Given the description of an element on the screen output the (x, y) to click on. 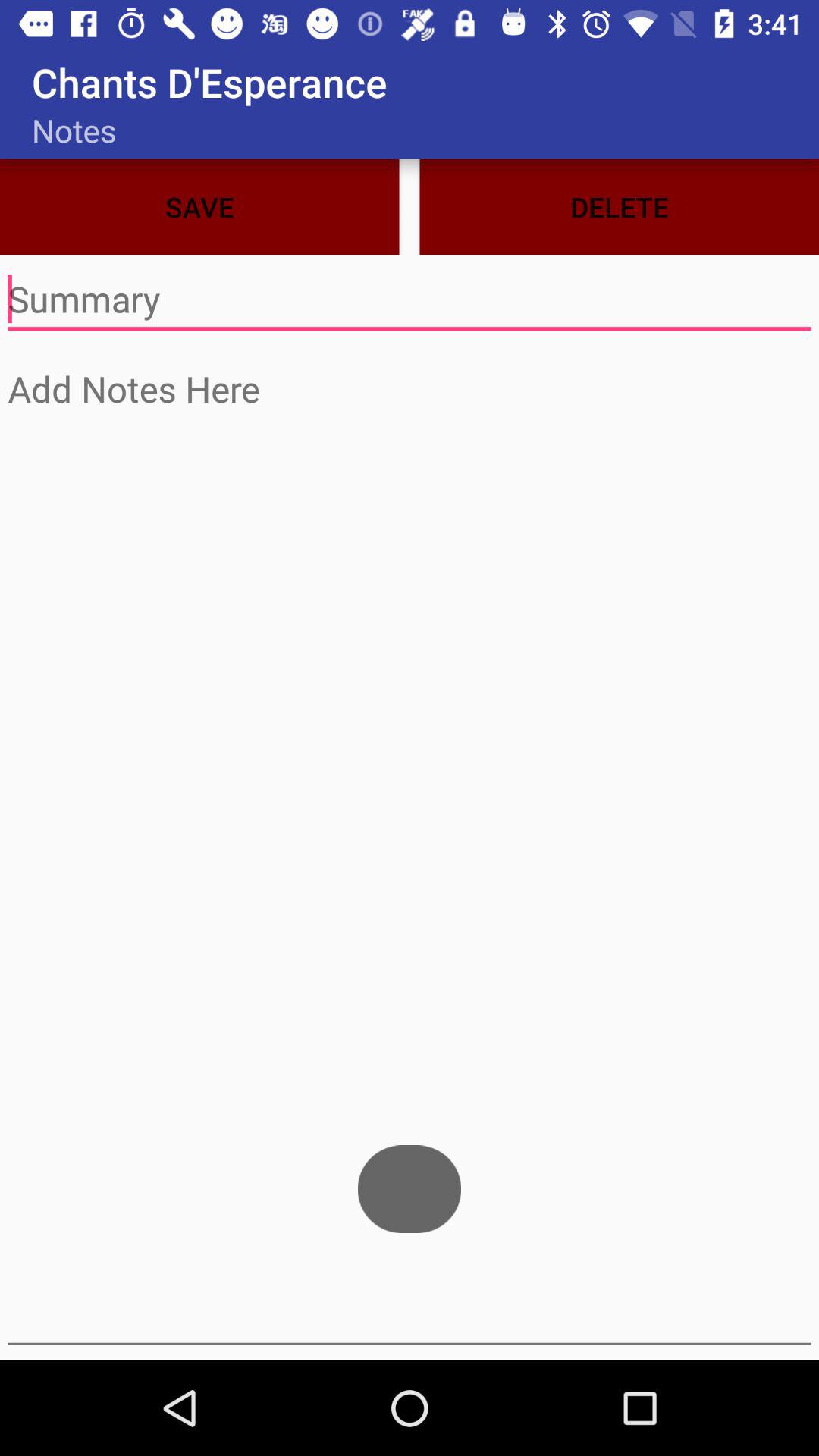
typing page (409, 852)
